Given the description of an element on the screen output the (x, y) to click on. 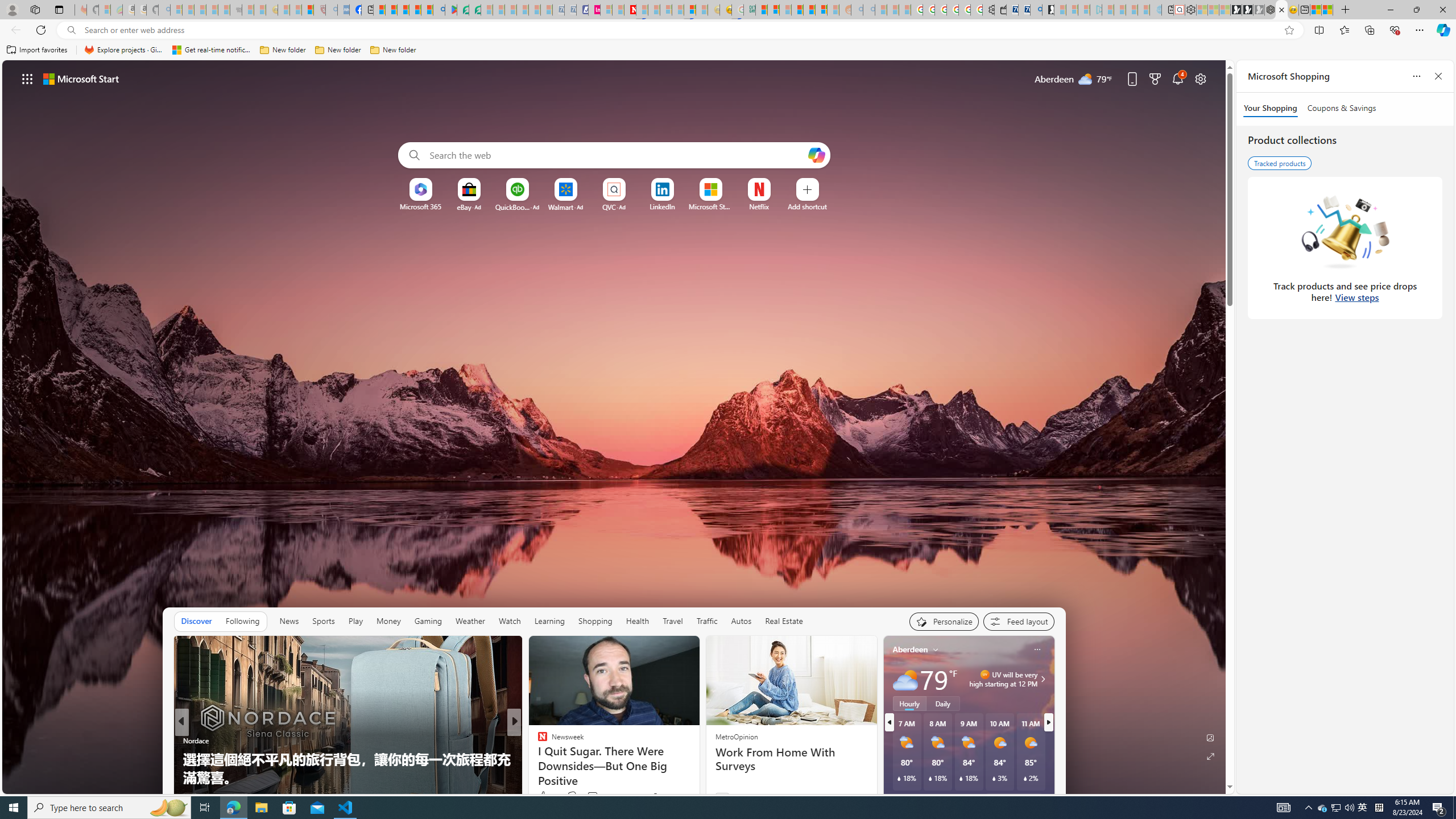
I Lost Over 129 Pounds Eating These Delicious Foods (697, 777)
Bluey: Let's Play! - Apps on Google Play (450, 9)
Play (355, 621)
Local - MSN (307, 9)
